Given the description of an element on the screen output the (x, y) to click on. 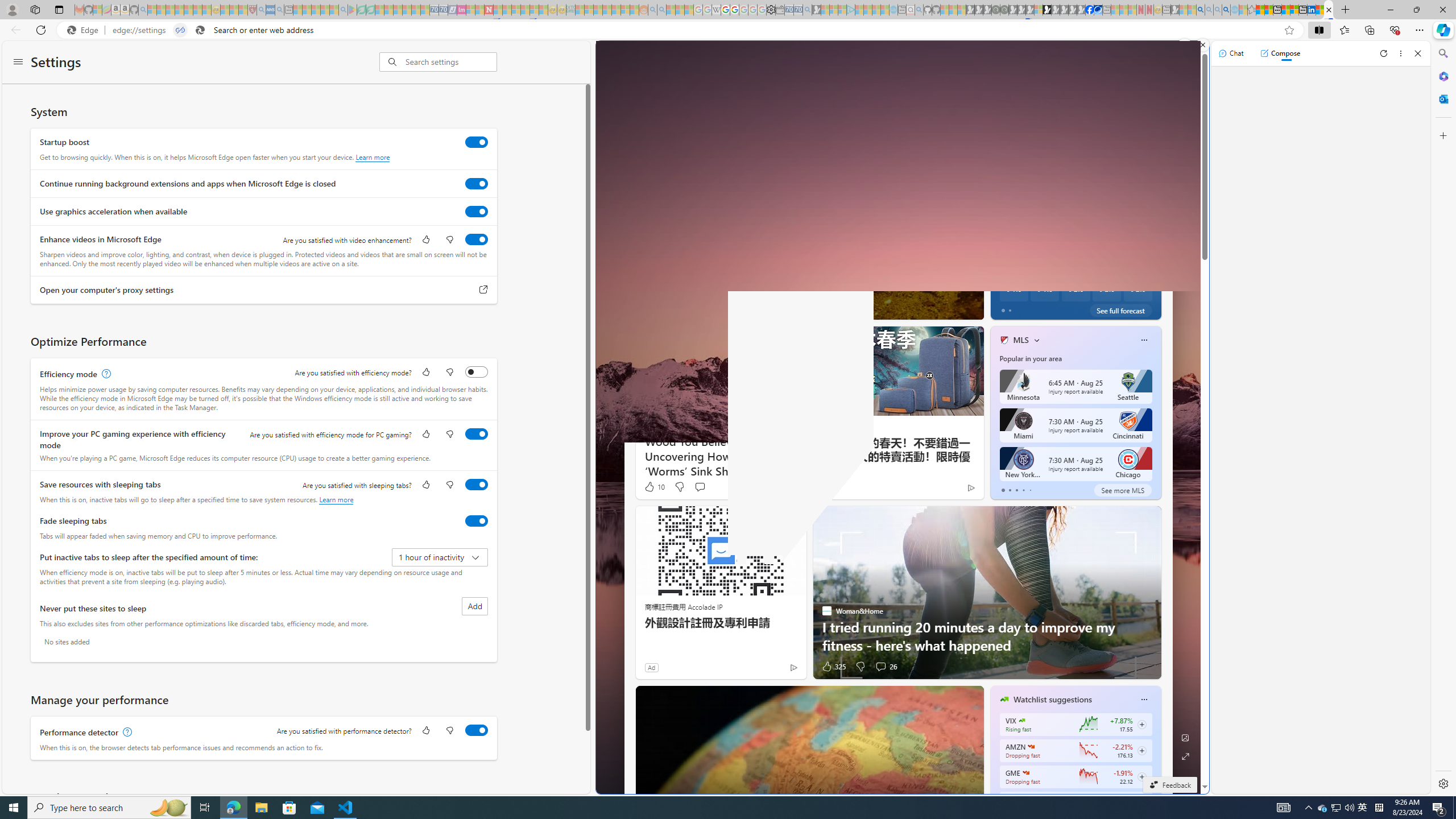
Close split screen. (1202, 45)
AutomationID: tab-13 (769, 308)
View comments 15 Comment (709, 307)
UV will be very high starting at 12 PM (1147, 189)
